Given the description of an element on the screen output the (x, y) to click on. 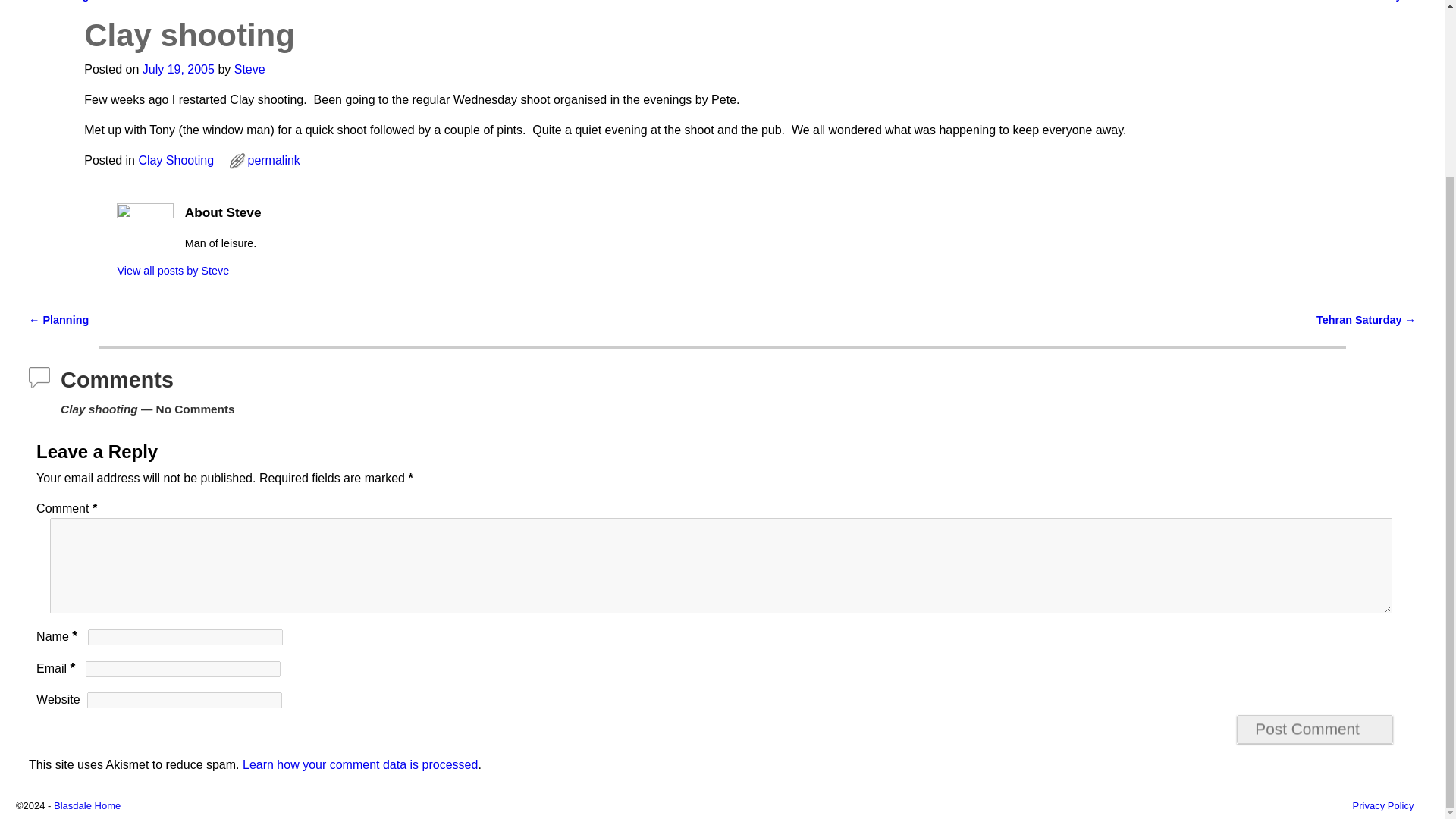
View all posts by Steve (249, 69)
9:12 pm (178, 69)
Blasdale Home (86, 805)
Post Comment (1314, 728)
Permalink to Clay shooting (273, 160)
